Given the description of an element on the screen output the (x, y) to click on. 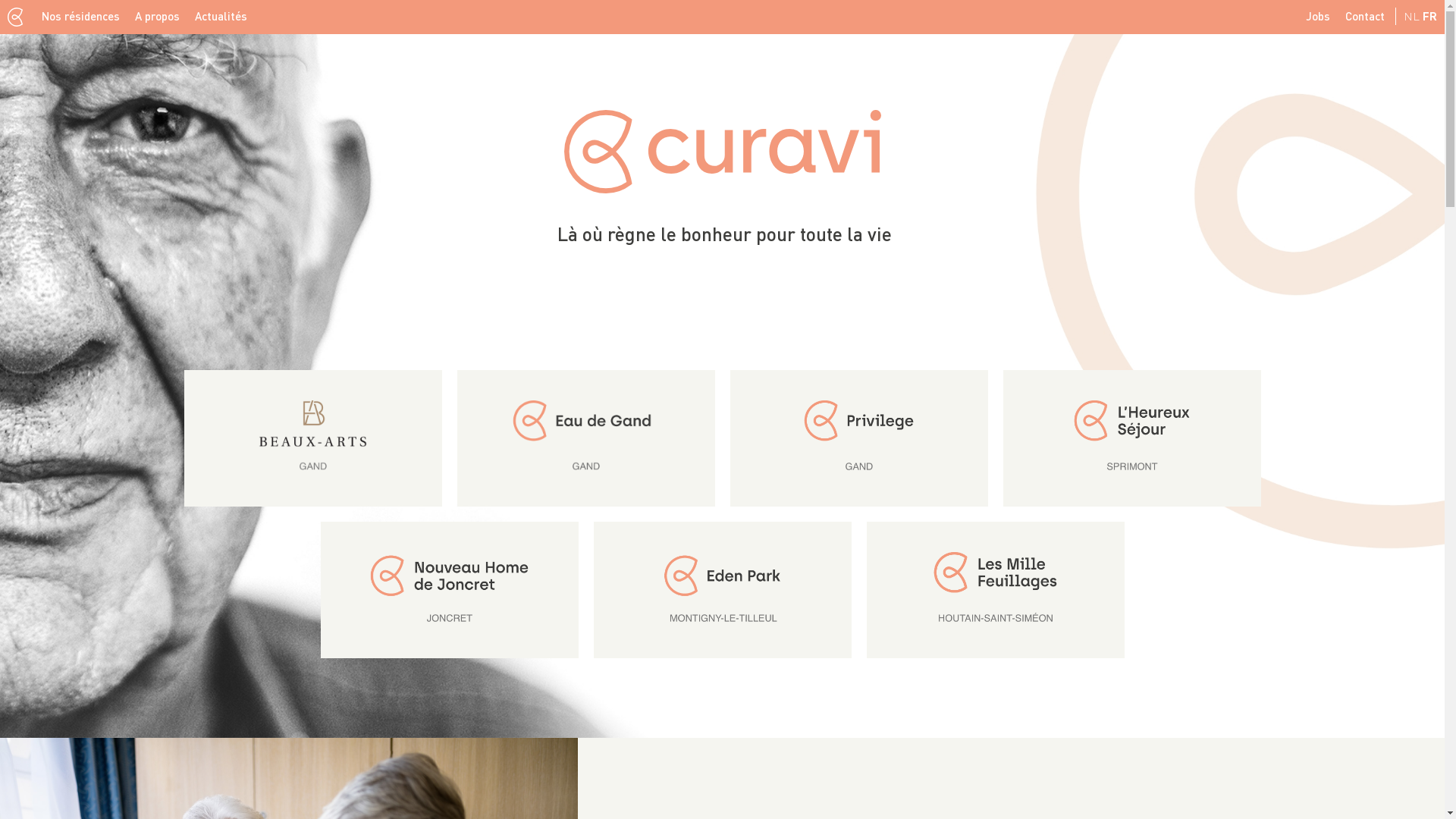
Beaux Art - Gand Element type: text (312, 438)
Eden Park - Montigny-Le-Tilleul Element type: text (722, 589)
Contact Element type: text (1364, 16)
Nouveau Home de Joncret - Joncret Element type: text (449, 589)
Les mille feuillages Element type: text (995, 589)
A propos Element type: text (156, 16)
Curavi | Maisons de soins et de repos Element type: text (722, 151)
Eau de Gand - Gand Element type: text (585, 438)
NL Element type: text (1411, 15)
Jobs Element type: text (1317, 16)
